Given the description of an element on the screen output the (x, y) to click on. 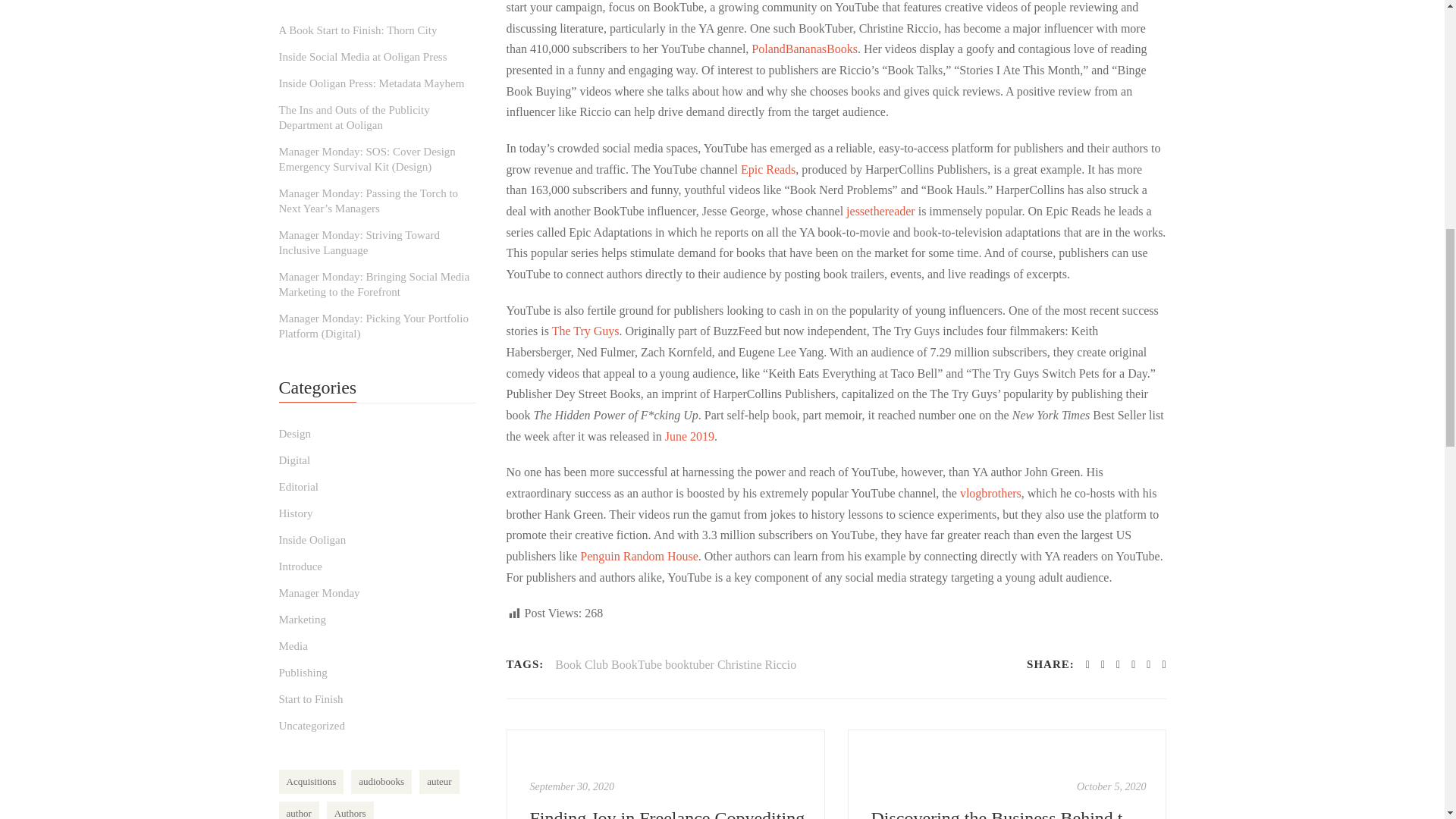
Finding Joy in Freelance Copyediting (667, 811)
Finding Joy in Freelance Copyediting (571, 786)
jessethereader (880, 210)
vlogbrothers (990, 492)
Penguin Random House (638, 555)
PolandBananasBooks (804, 48)
June 2019 (689, 436)
The Try Guys (585, 330)
Discovering the Business Behind the Art Form (1006, 774)
September 30, 2020 (571, 786)
Epic Reads (767, 169)
Finding Joy in Freelance Copyediting (665, 774)
Book Club BookTube booktuber Christine Riccio (675, 664)
